Given the description of an element on the screen output the (x, y) to click on. 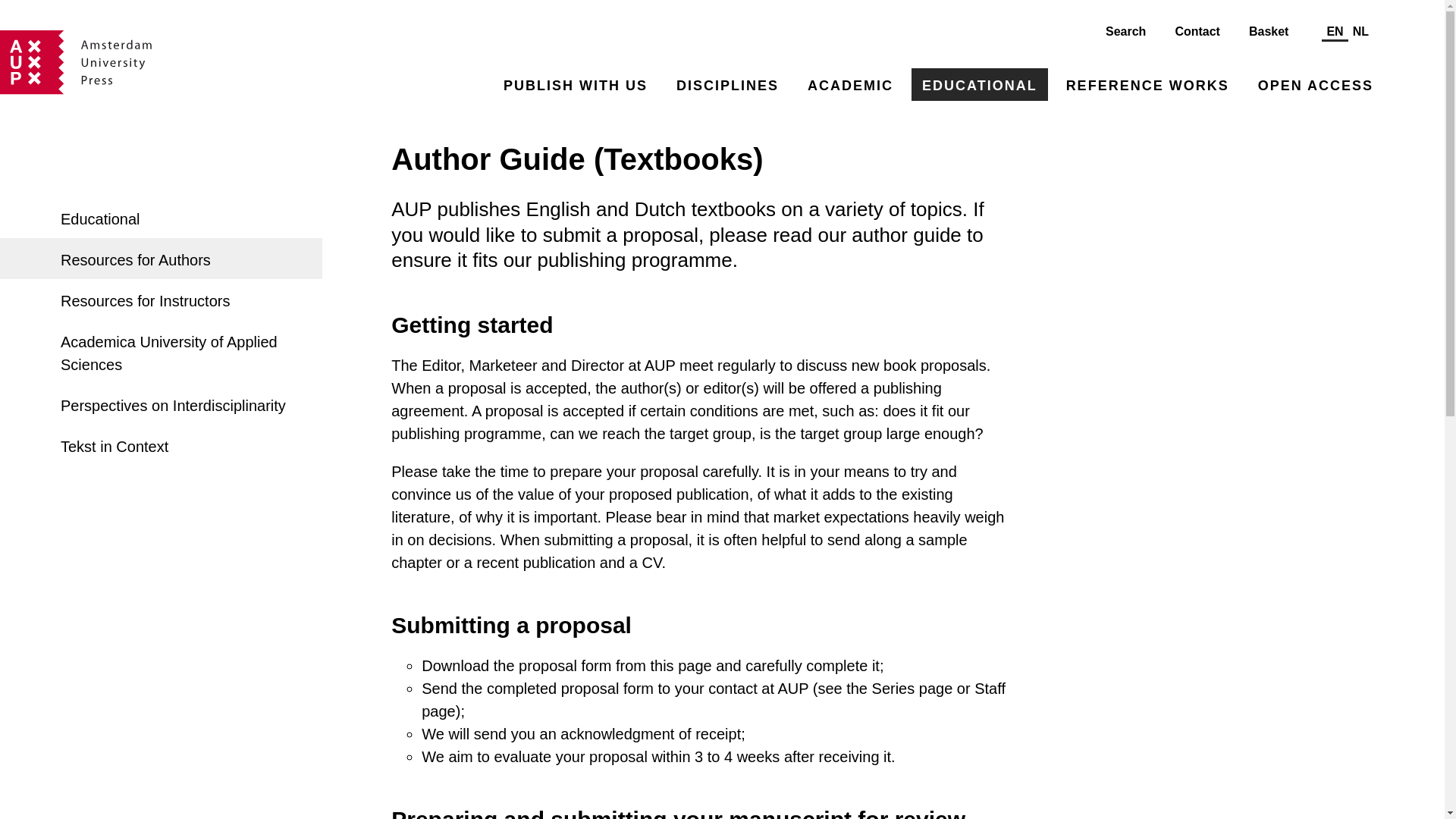
PUBLISH WITH US (575, 83)
DISCIPLINES (727, 83)
ACADEMIC (850, 83)
Amsterdam University Press (75, 62)
REFERENCE WORKS (1147, 83)
EDUCATIONAL (979, 83)
